Given the description of an element on the screen output the (x, y) to click on. 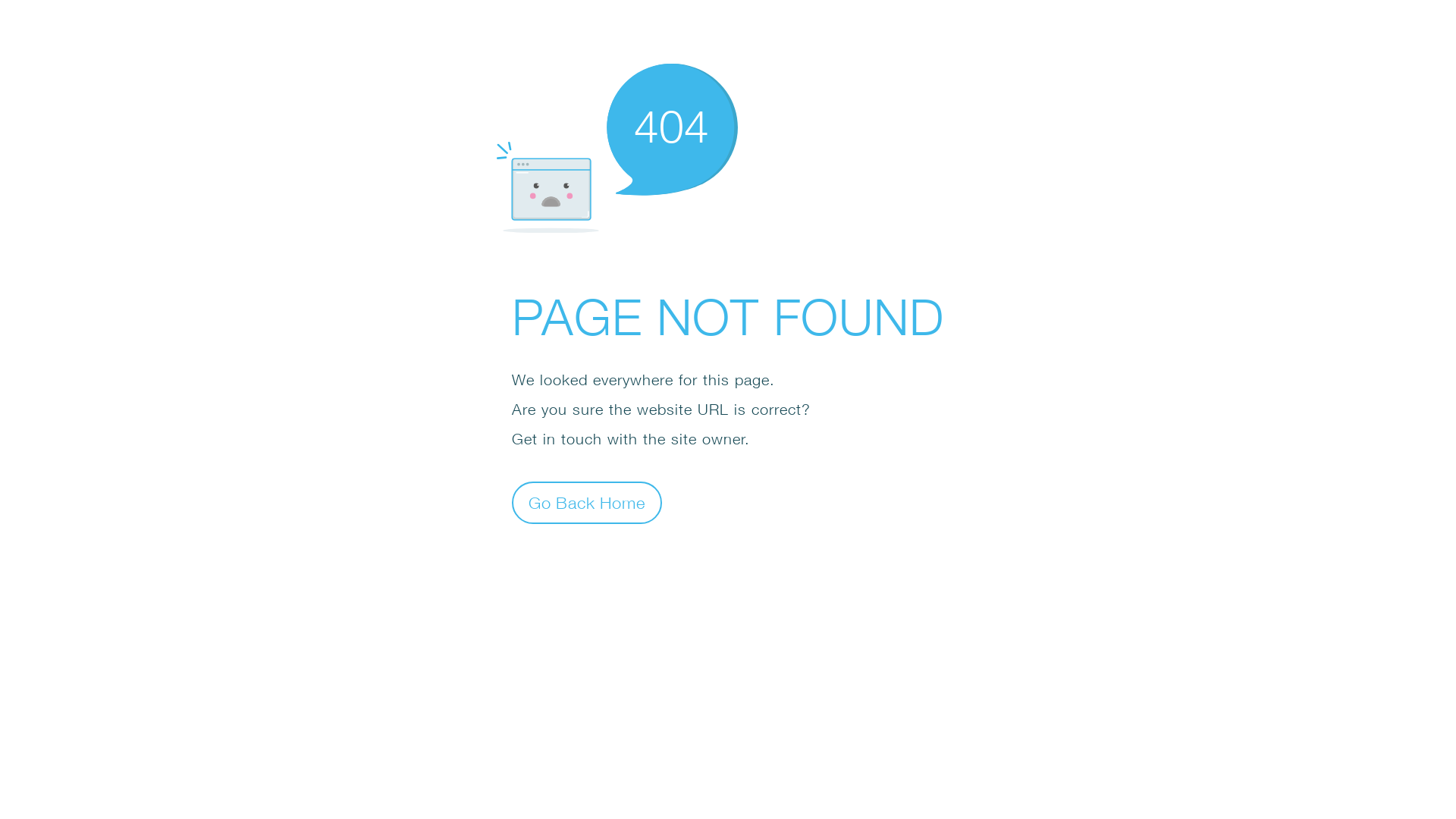
Go Back Home Element type: text (586, 502)
